Given the description of an element on the screen output the (x, y) to click on. 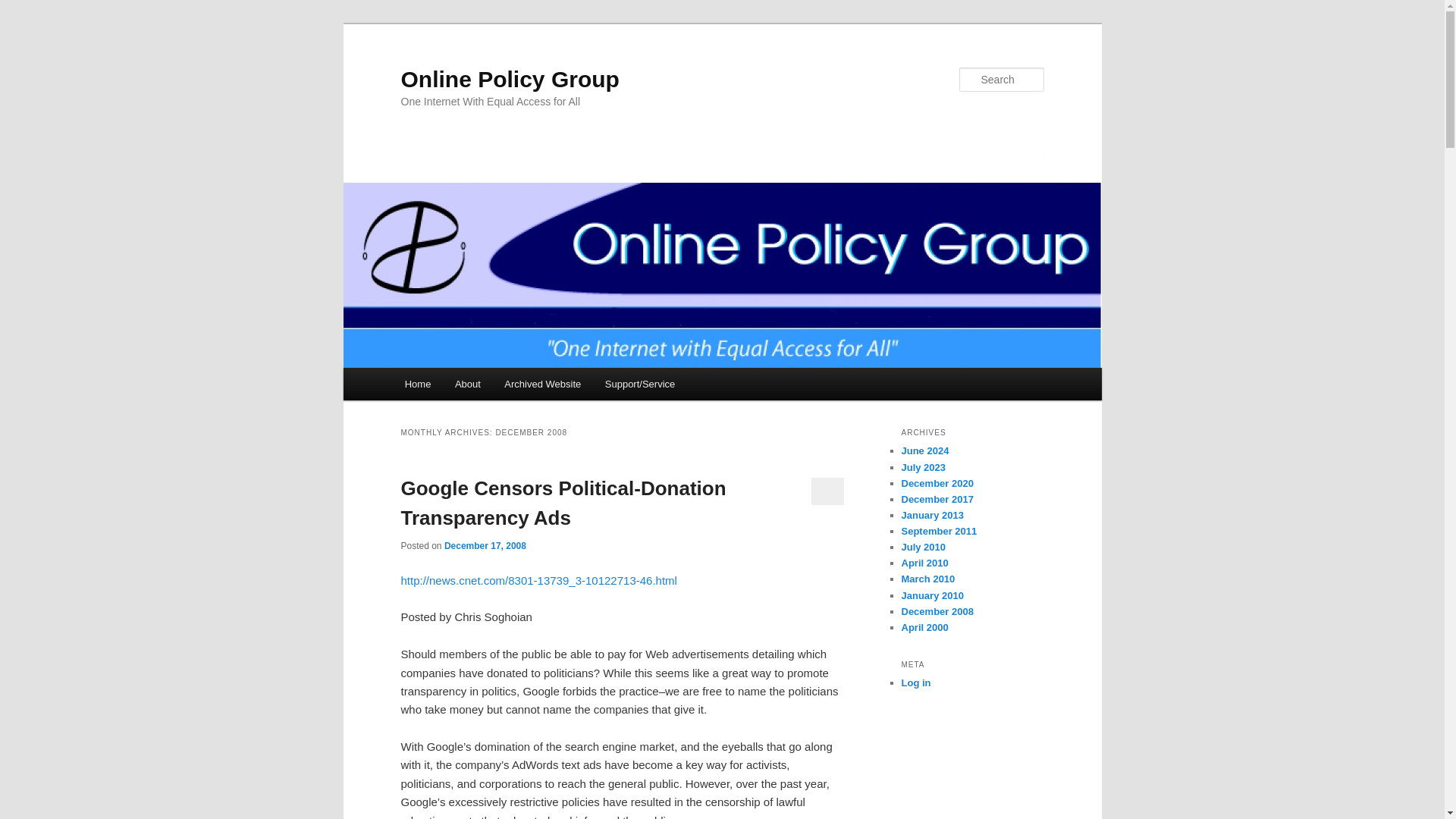
December 17, 2008 (484, 545)
December 2017 (936, 499)
April 2010 (924, 562)
About (467, 383)
January 2013 (931, 514)
06:00 (484, 545)
December 2020 (936, 482)
Log in (915, 682)
Search (24, 8)
